Given the description of an element on the screen output the (x, y) to click on. 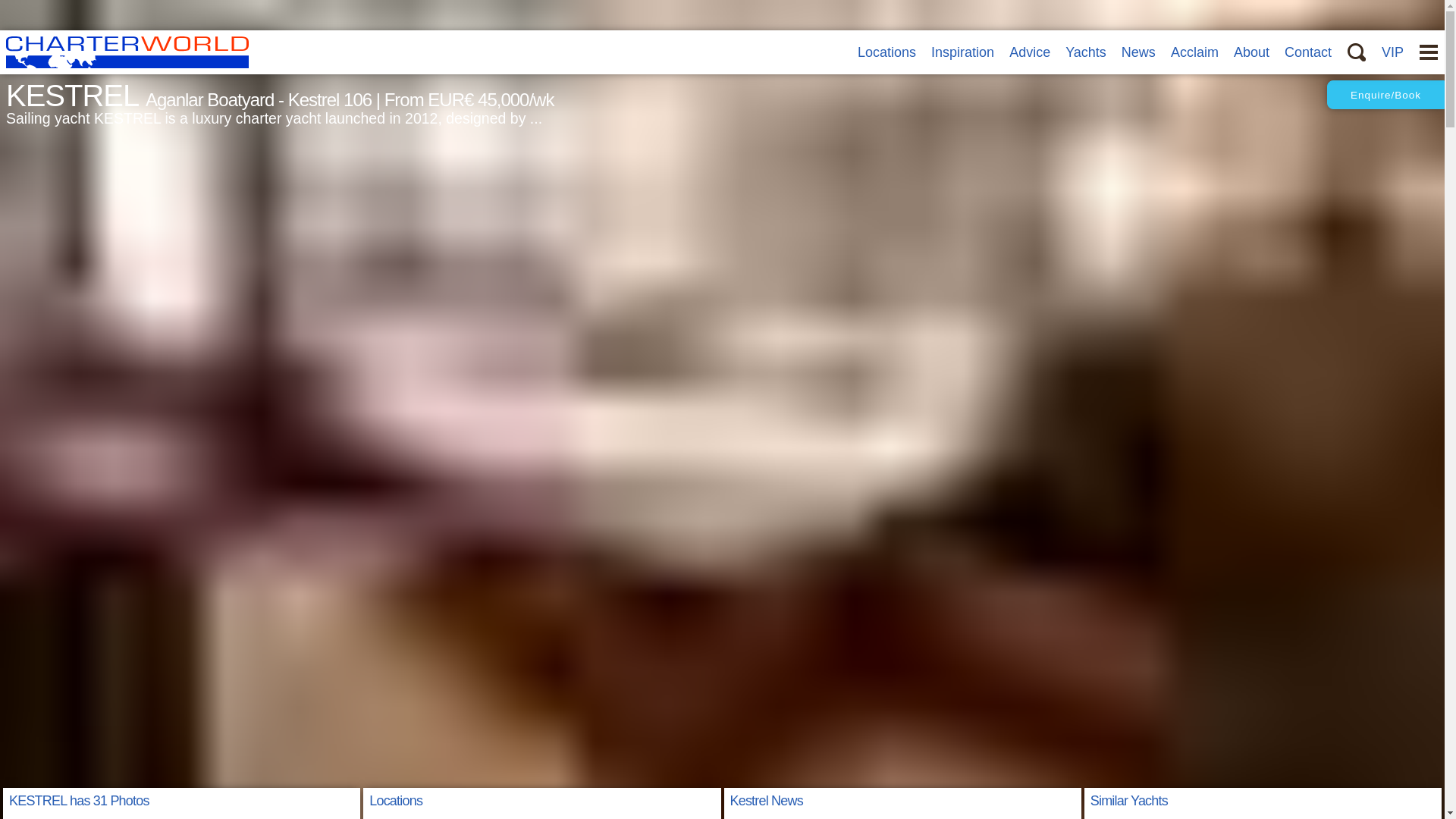
Contact (1308, 51)
About (1251, 51)
News (1138, 51)
Inspiration (962, 51)
Kestrel News (765, 800)
Yachts (1085, 51)
Locations (886, 51)
Advice (1029, 51)
Acclaim (1194, 51)
